Given the description of an element on the screen output the (x, y) to click on. 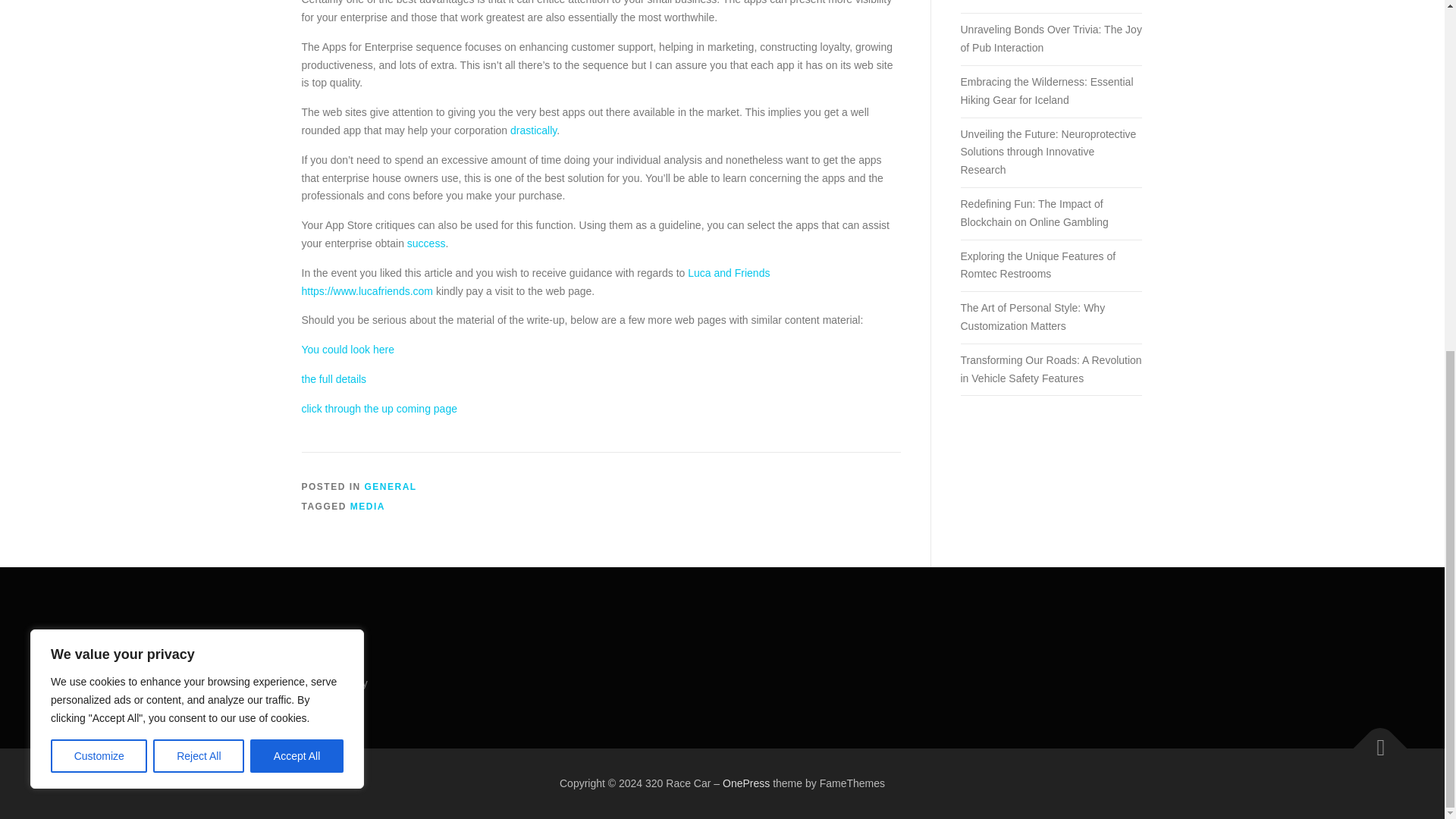
MEDIA (367, 506)
the full details (333, 378)
Reject All (198, 145)
Accept All (296, 145)
click through the up coming page (379, 408)
You could look here (347, 349)
success (426, 243)
drastically (533, 130)
Top Brands for Quality Windows in the USA (1049, 1)
Back To Top (1372, 740)
